Given the description of an element on the screen output the (x, y) to click on. 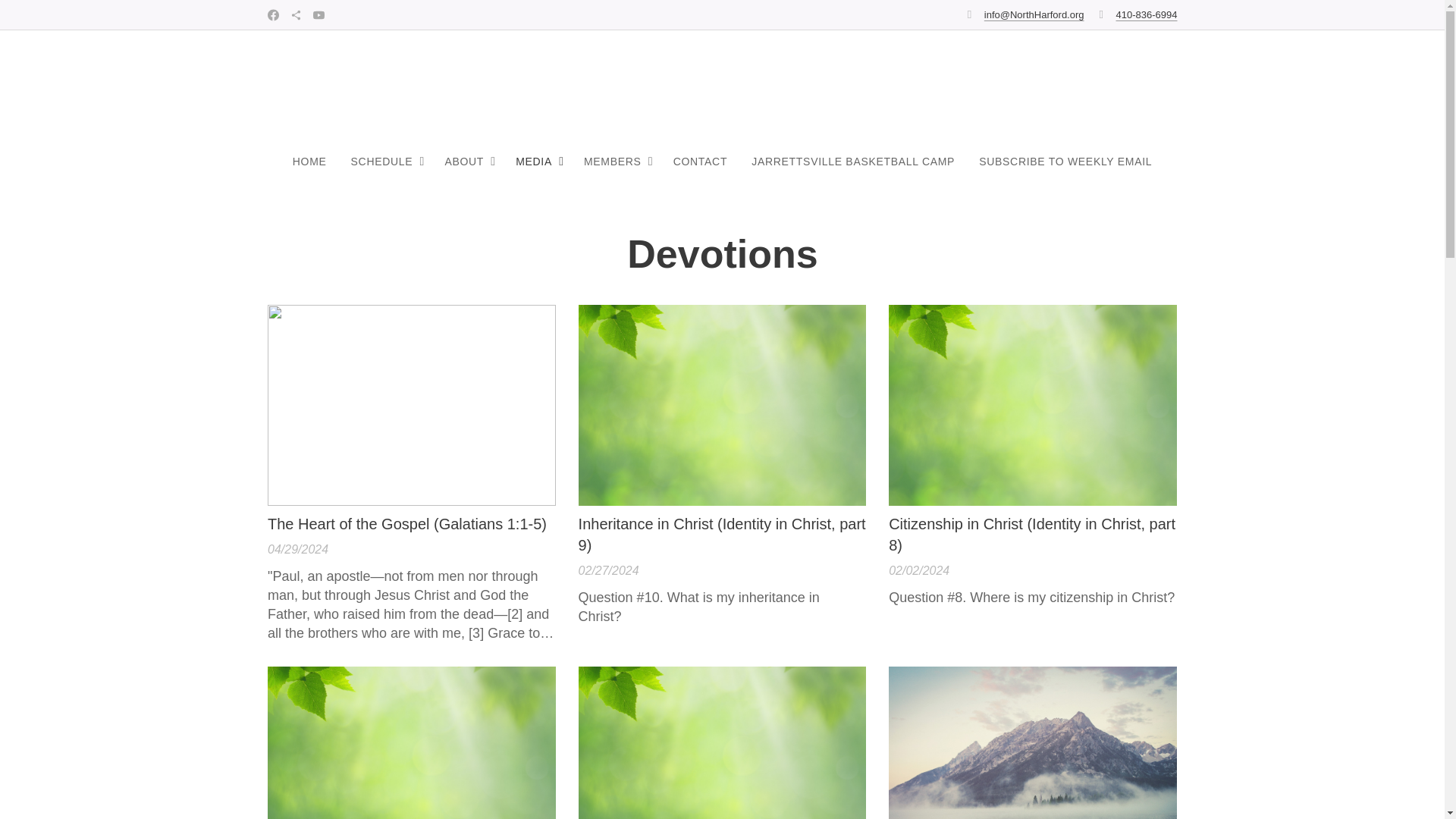
410-836-6994 (1146, 14)
HOME (315, 161)
SUBSCRIBE TO WEEKLY EMAIL (1058, 161)
Facebook (272, 14)
SCHEDULE (385, 161)
MEMBERS (616, 161)
Youtube (318, 14)
ABOUT (467, 161)
CONTACT (700, 161)
MEDIA (537, 161)
JARRETTSVILLE BASKETBALL CAMP (852, 161)
